Given the description of an element on the screen output the (x, y) to click on. 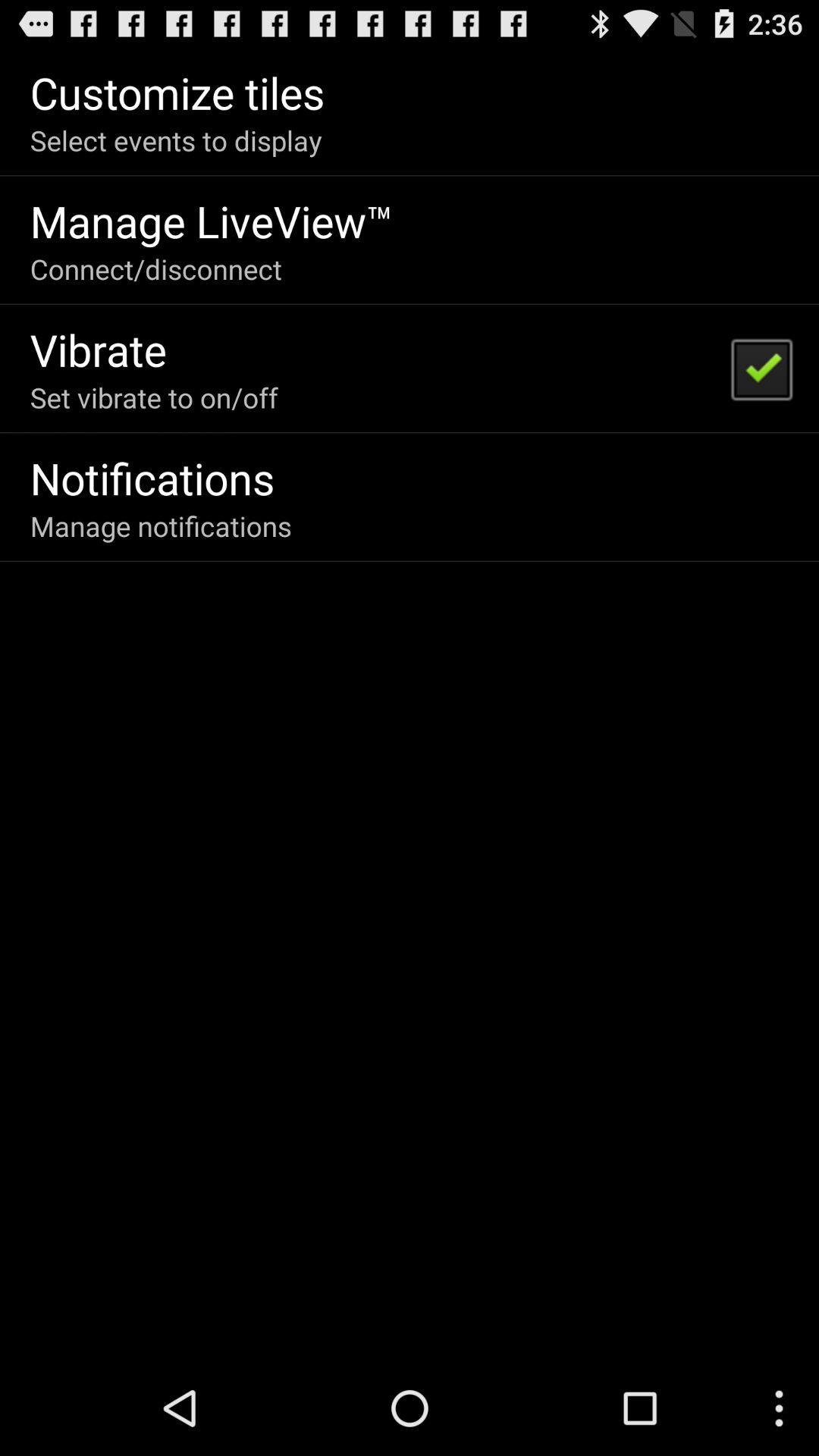
turn off manage notifications on the left (160, 525)
